Given the description of an element on the screen output the (x, y) to click on. 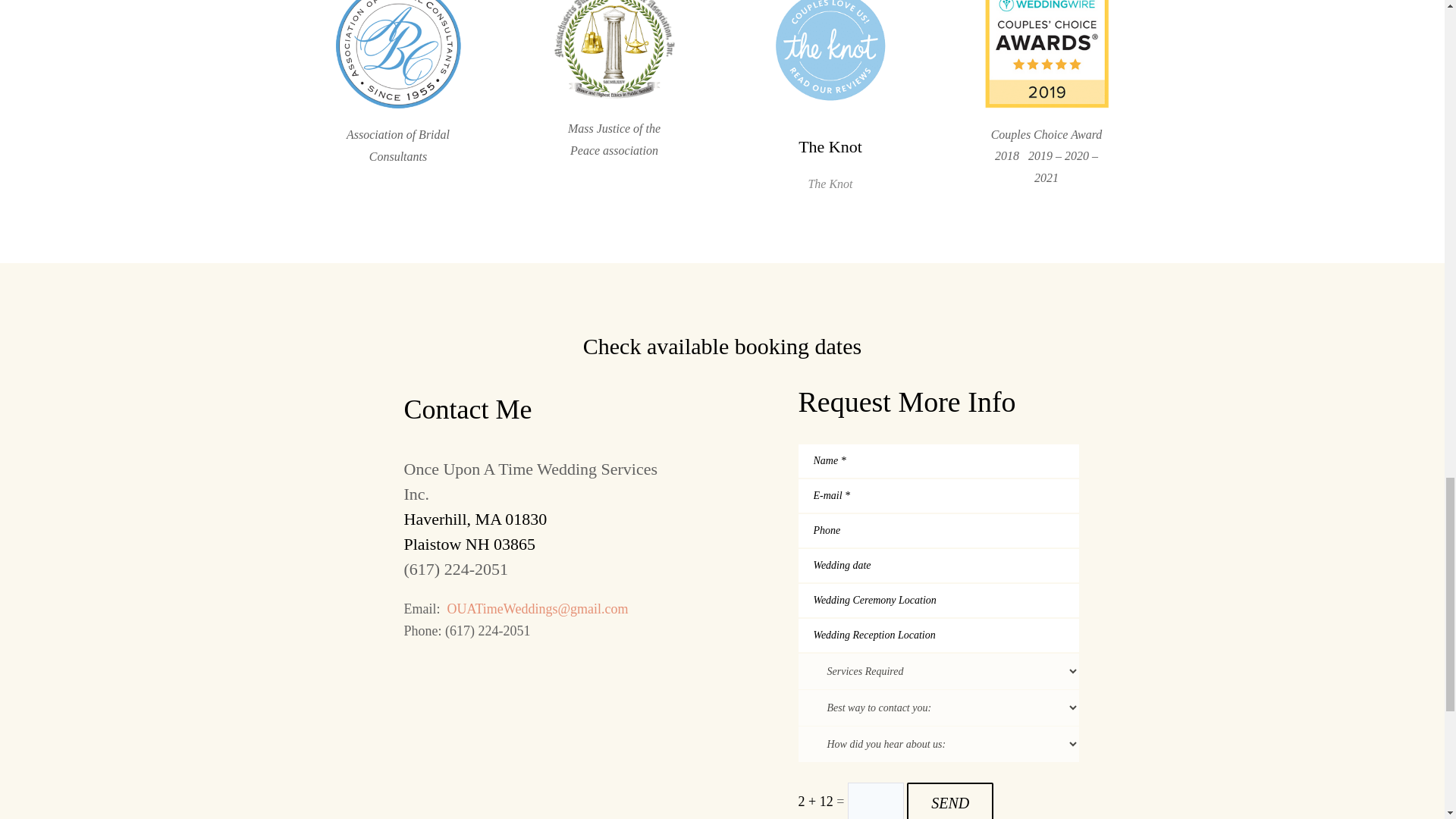
The Knot (829, 146)
SEND (949, 800)
